Given the description of an element on the screen output the (x, y) to click on. 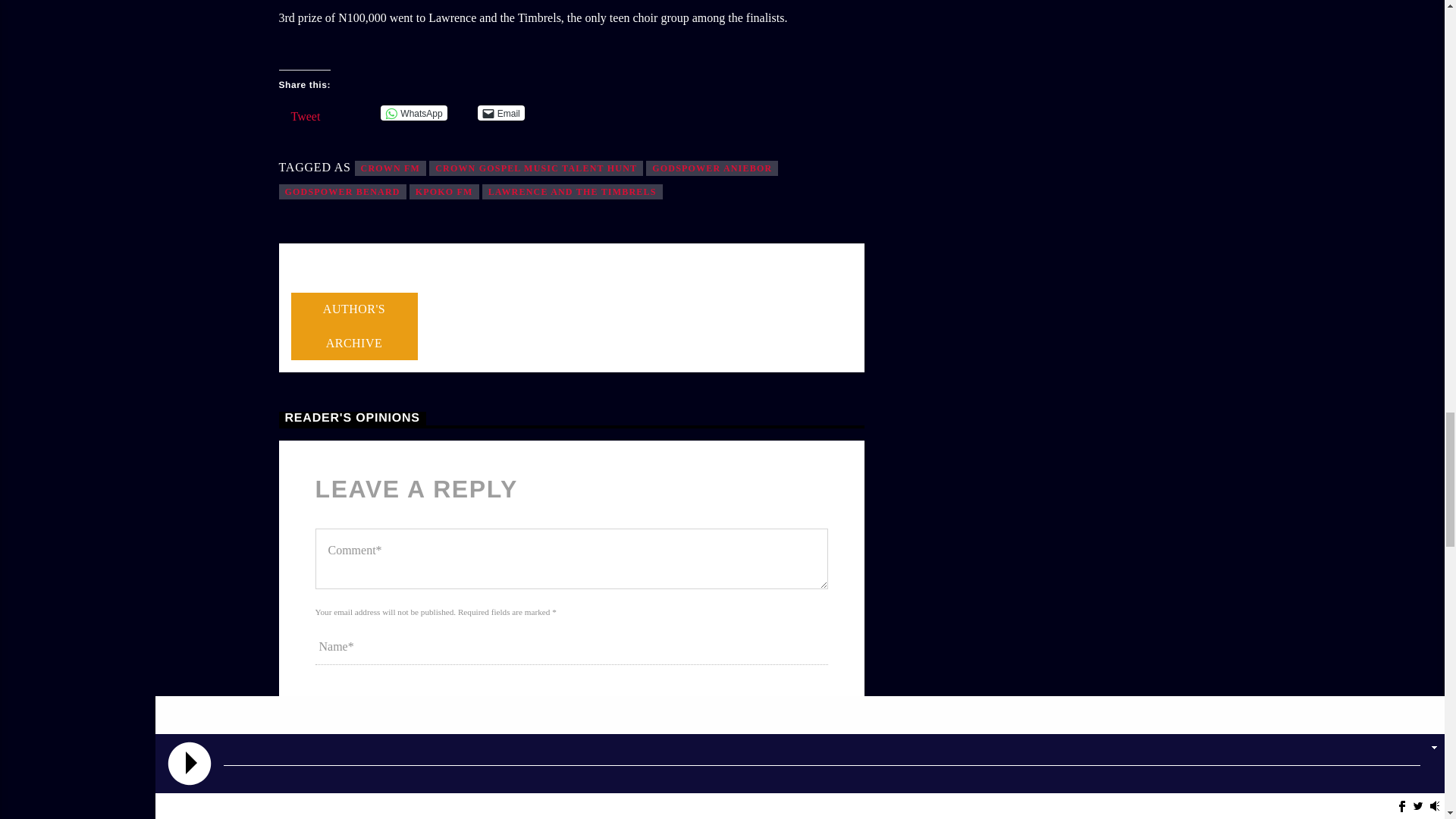
Click to email a link to a friend (500, 112)
Post Comment (375, 815)
Click to share on WhatsApp (413, 112)
